Given the description of an element on the screen output the (x, y) to click on. 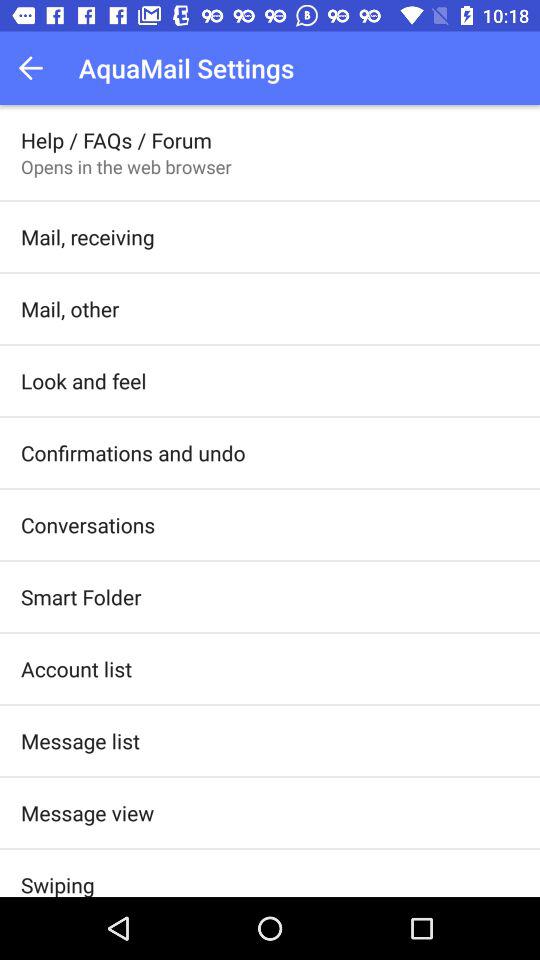
choose the look and feel (83, 380)
